Given the description of an element on the screen output the (x, y) to click on. 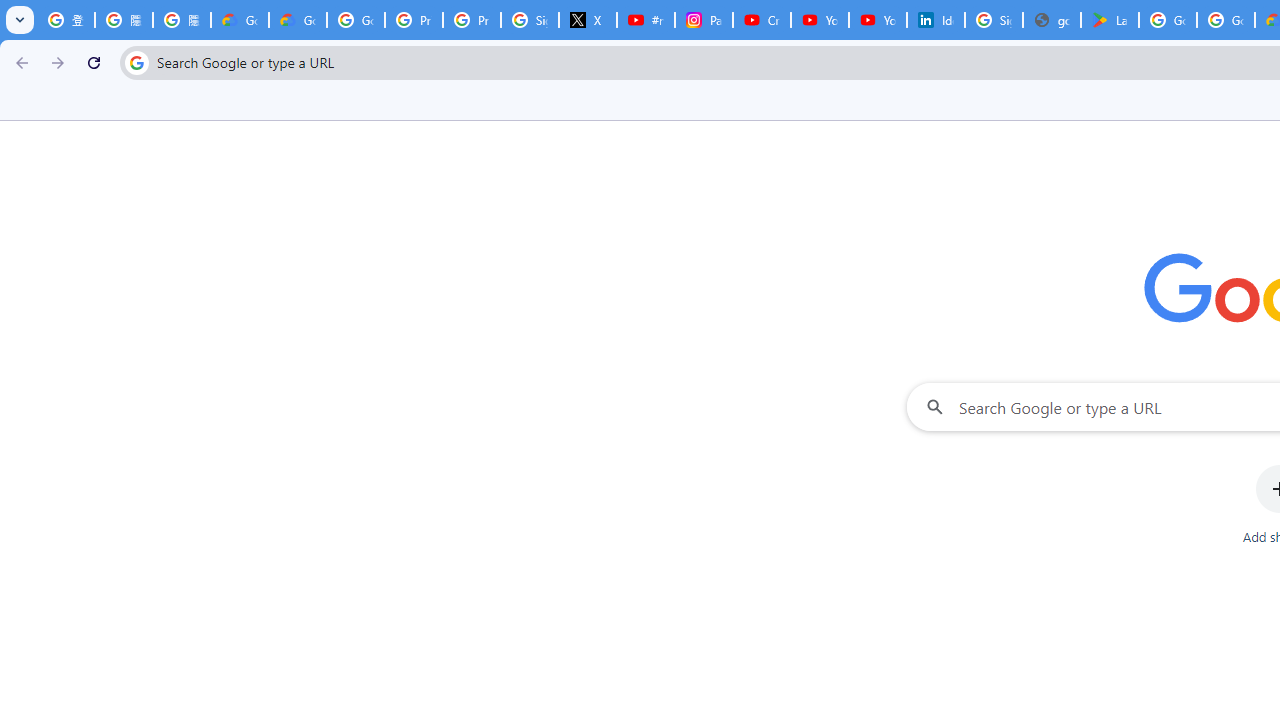
X (587, 20)
Search icon (136, 62)
Privacy Help Center - Policies Help (471, 20)
Google Cloud Privacy Notice (239, 20)
Sign in - Google Accounts (529, 20)
#nbabasketballhighlights - YouTube (645, 20)
Sign in - Google Accounts (993, 20)
Google Cloud Privacy Notice (297, 20)
YouTube Culture & Trends - YouTube Top 10, 2021 (877, 20)
